Given the description of an element on the screen output the (x, y) to click on. 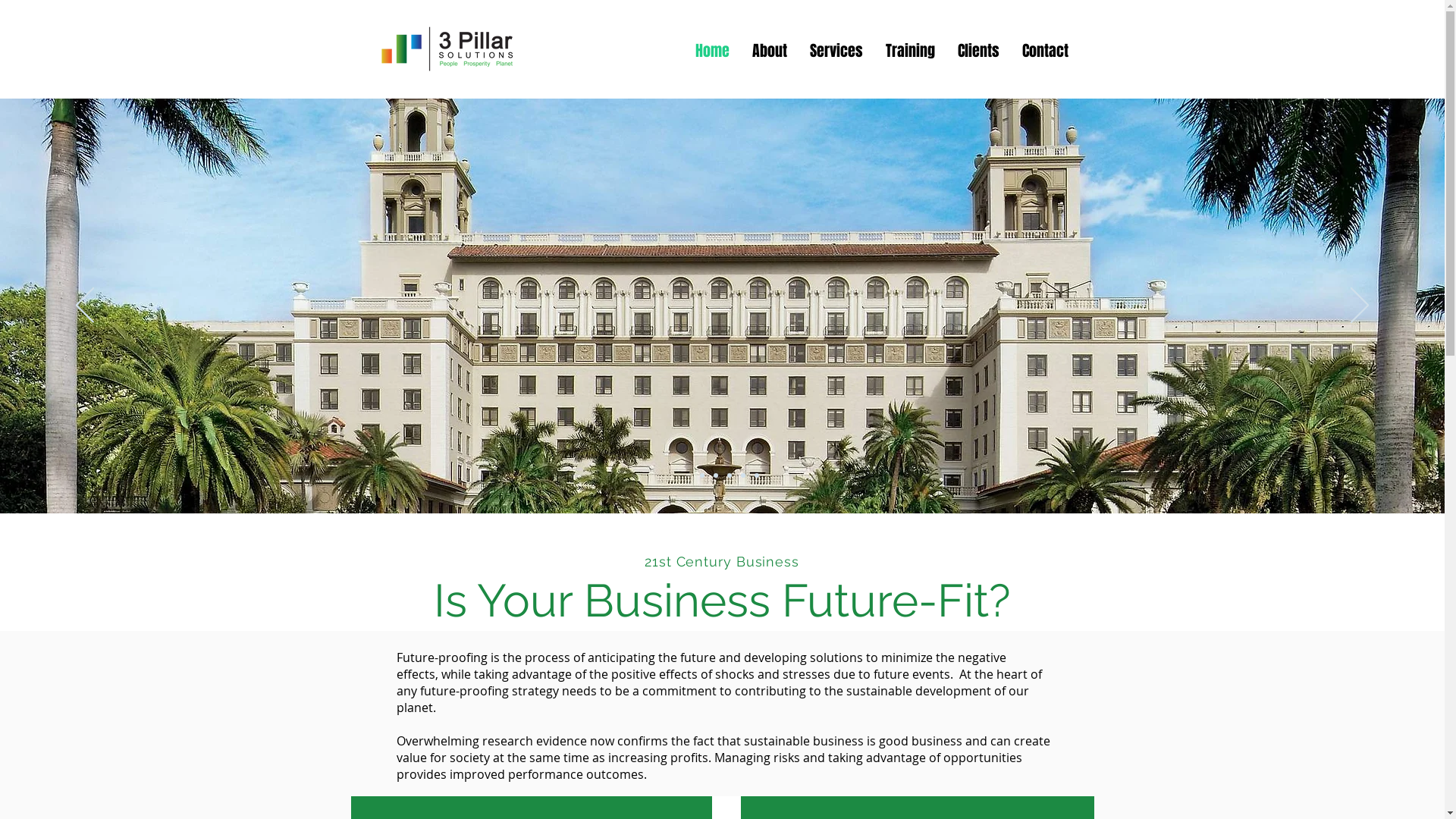
Training Element type: text (909, 48)
Clients Element type: text (978, 48)
Services Element type: text (835, 48)
Contact Element type: text (1044, 48)
About Element type: text (768, 48)
Home Element type: text (712, 48)
